Given the description of an element on the screen output the (x, y) to click on. 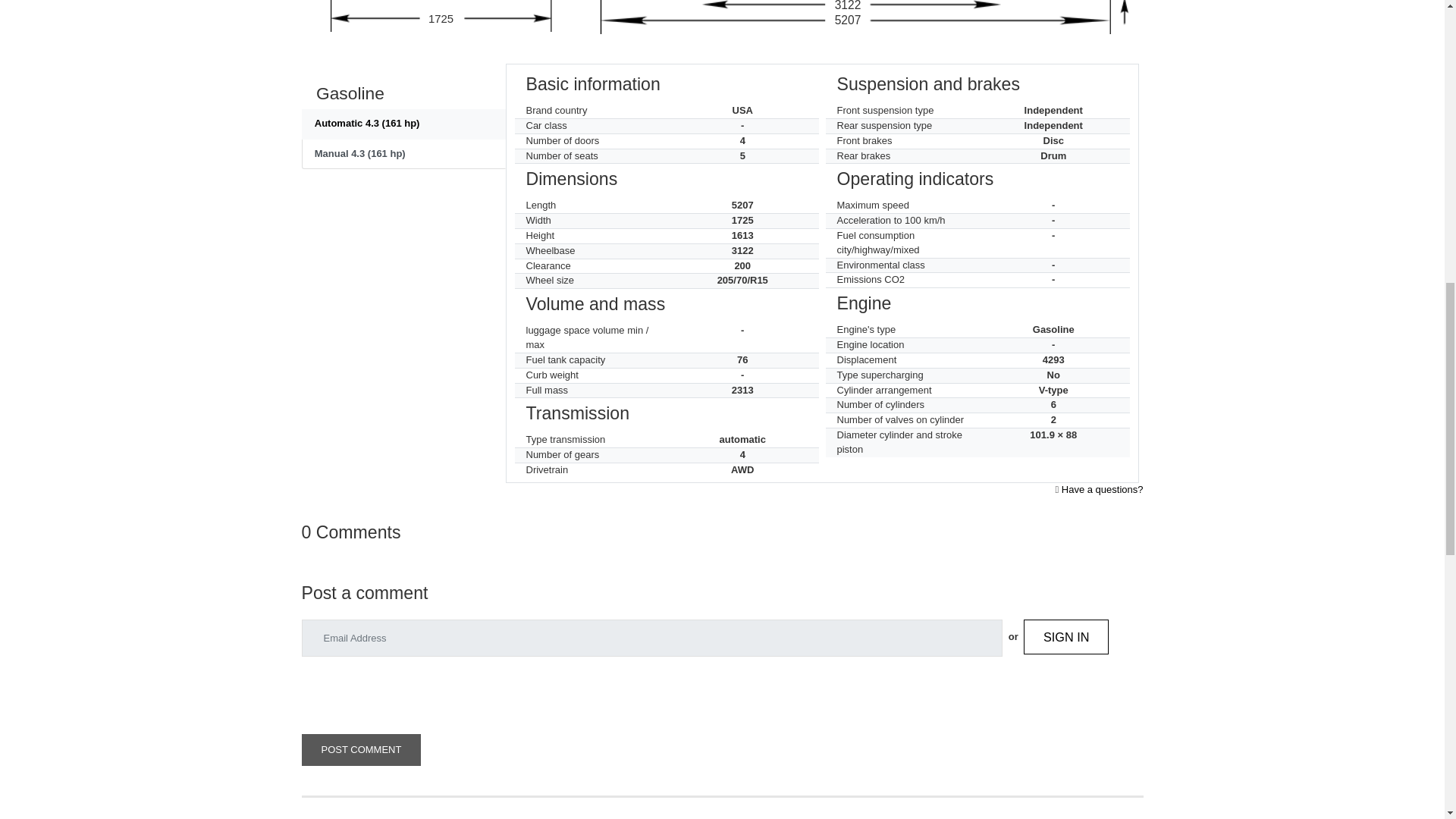
POST COMMENT (361, 749)
Have a questions? (1101, 489)
SIGN IN (1066, 636)
